Given the description of an element on the screen output the (x, y) to click on. 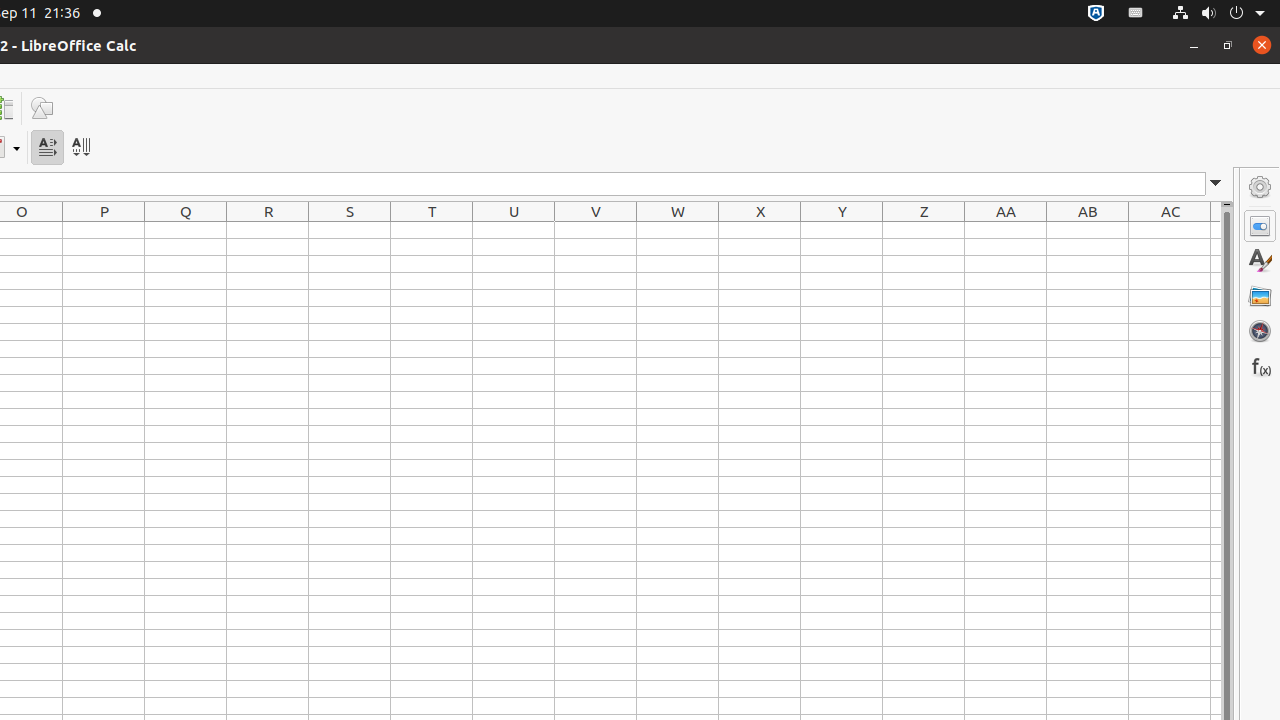
U1 Element type: table-cell (514, 230)
R1 Element type: table-cell (268, 230)
